Given the description of an element on the screen output the (x, y) to click on. 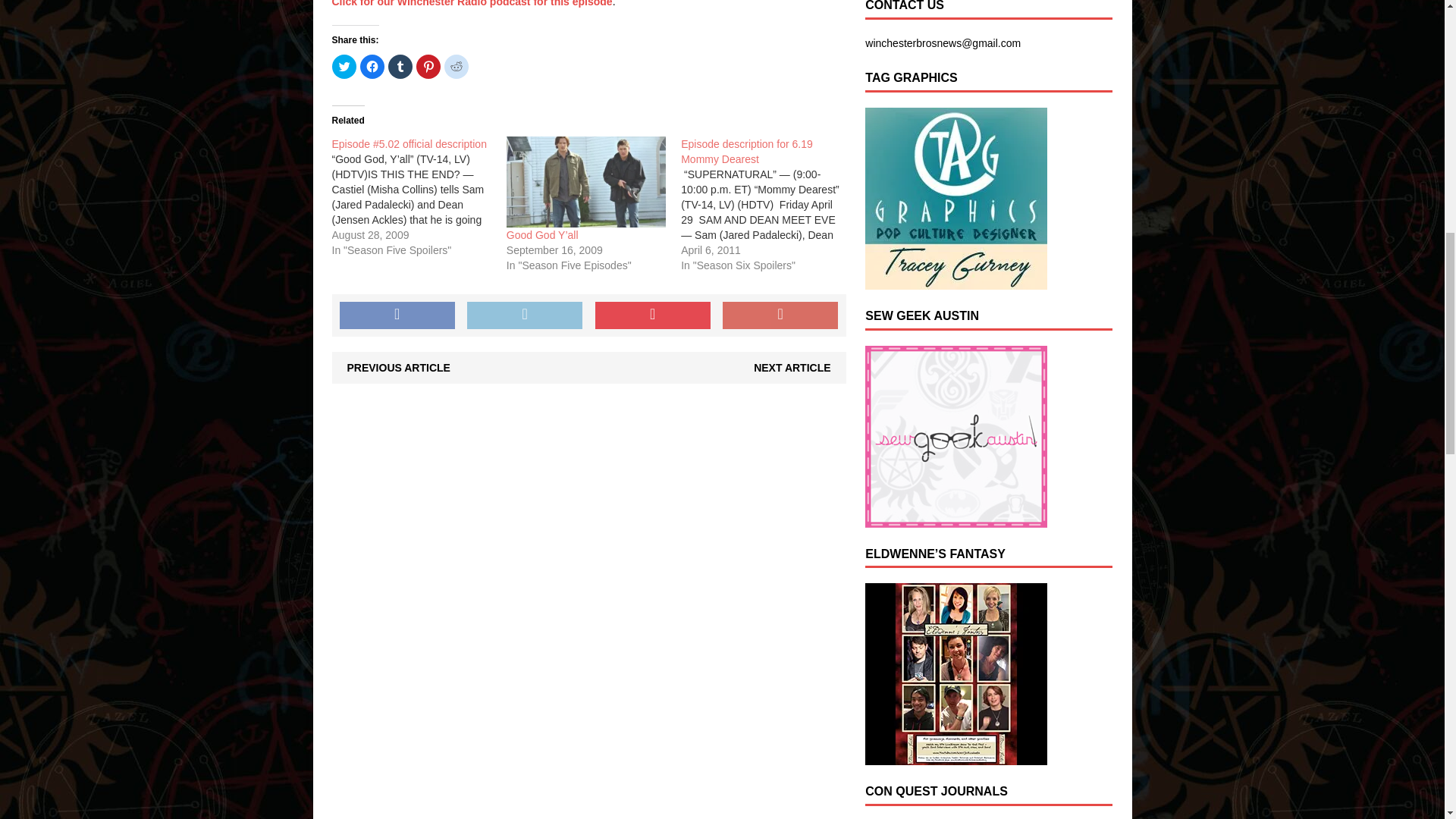
Click to share on Facebook (371, 66)
Click to share on Reddit (456, 66)
Click to share on Tumblr (400, 66)
Click to share on Twitter (343, 66)
Click to share on Pinterest (426, 66)
